Given the description of an element on the screen output the (x, y) to click on. 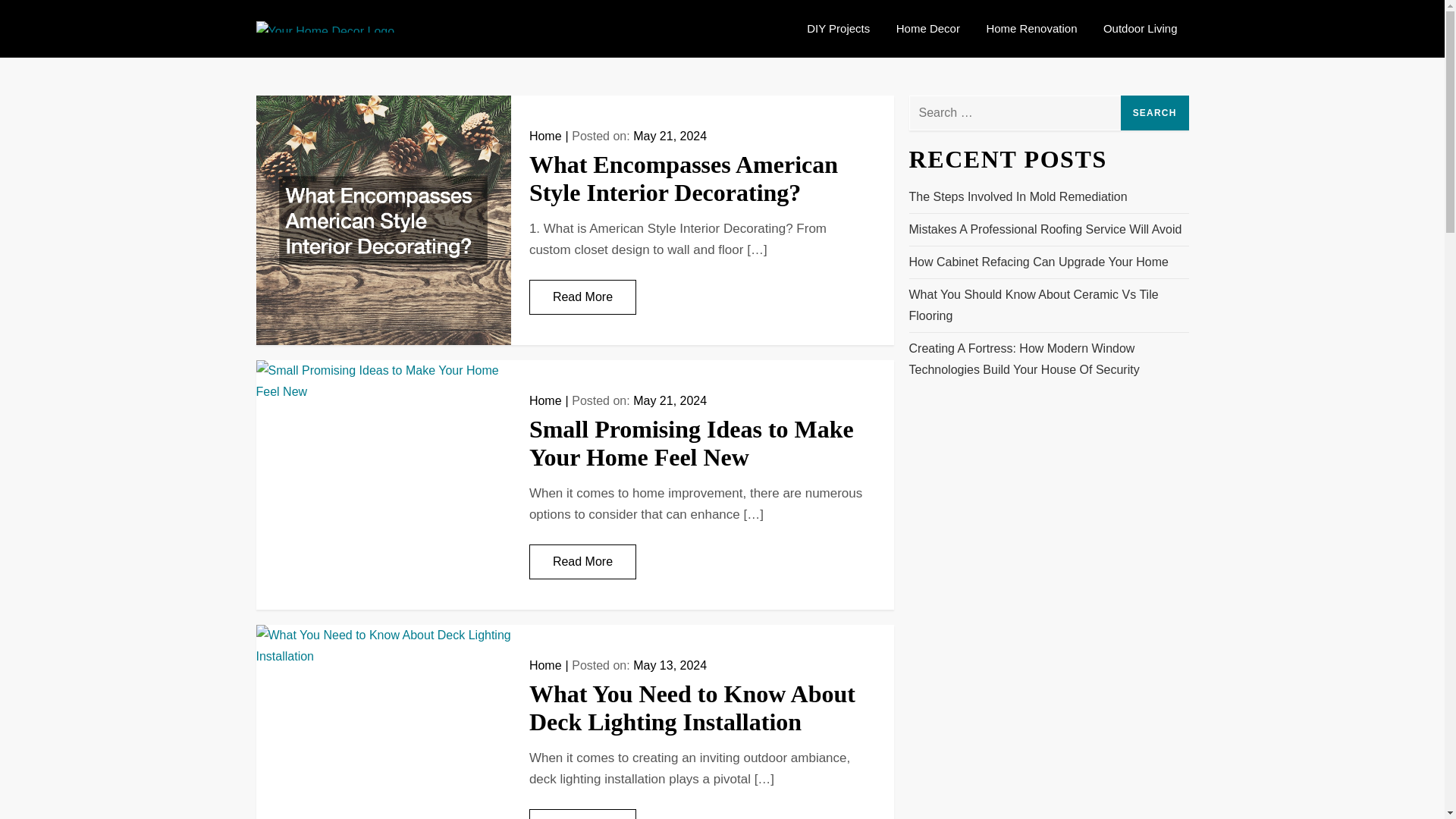
DIY Projects (837, 28)
Outdoor Living (1140, 28)
May 21, 2024 (669, 400)
May 21, 2024 (669, 135)
Small Promising Ideas to Make Your Home Feel New (691, 442)
Read More (582, 297)
May 13, 2024 (669, 665)
What You Need to Know About Deck Lighting Installation (692, 707)
Read More (582, 561)
Home (545, 135)
Home Renovation (1030, 28)
Home Decor (928, 28)
Your Home Decor (445, 33)
Home (545, 400)
What Encompasses American Style Interior Decorating? (683, 178)
